Given the description of an element on the screen output the (x, y) to click on. 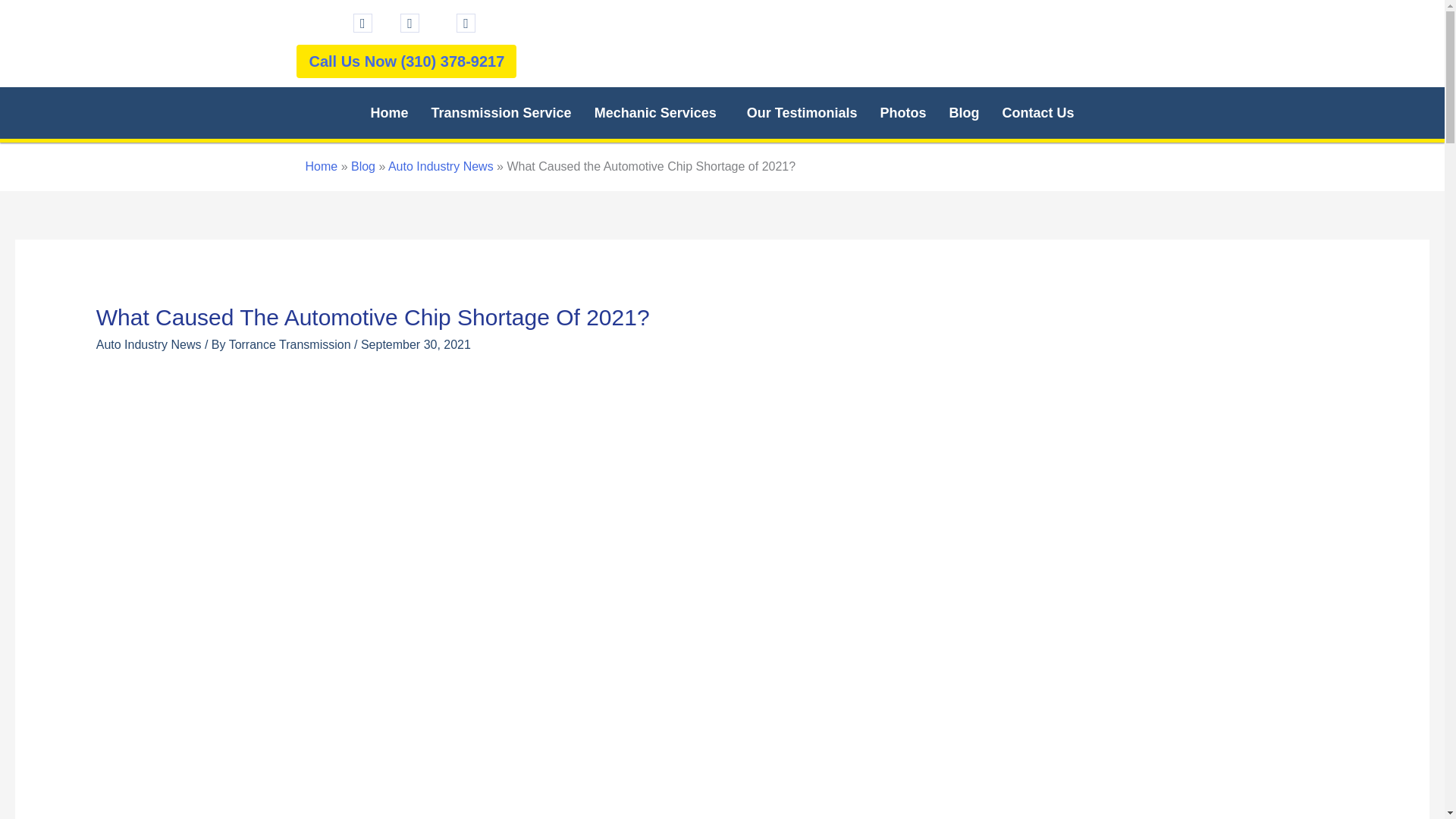
Transmission Service (501, 113)
Photos (902, 113)
Home (389, 113)
Blog (963, 113)
Our Testimonials (802, 113)
Mechanic Services (659, 113)
Contact Us (1037, 113)
View all posts by Torrance Transmission (290, 344)
